Given the description of an element on the screen output the (x, y) to click on. 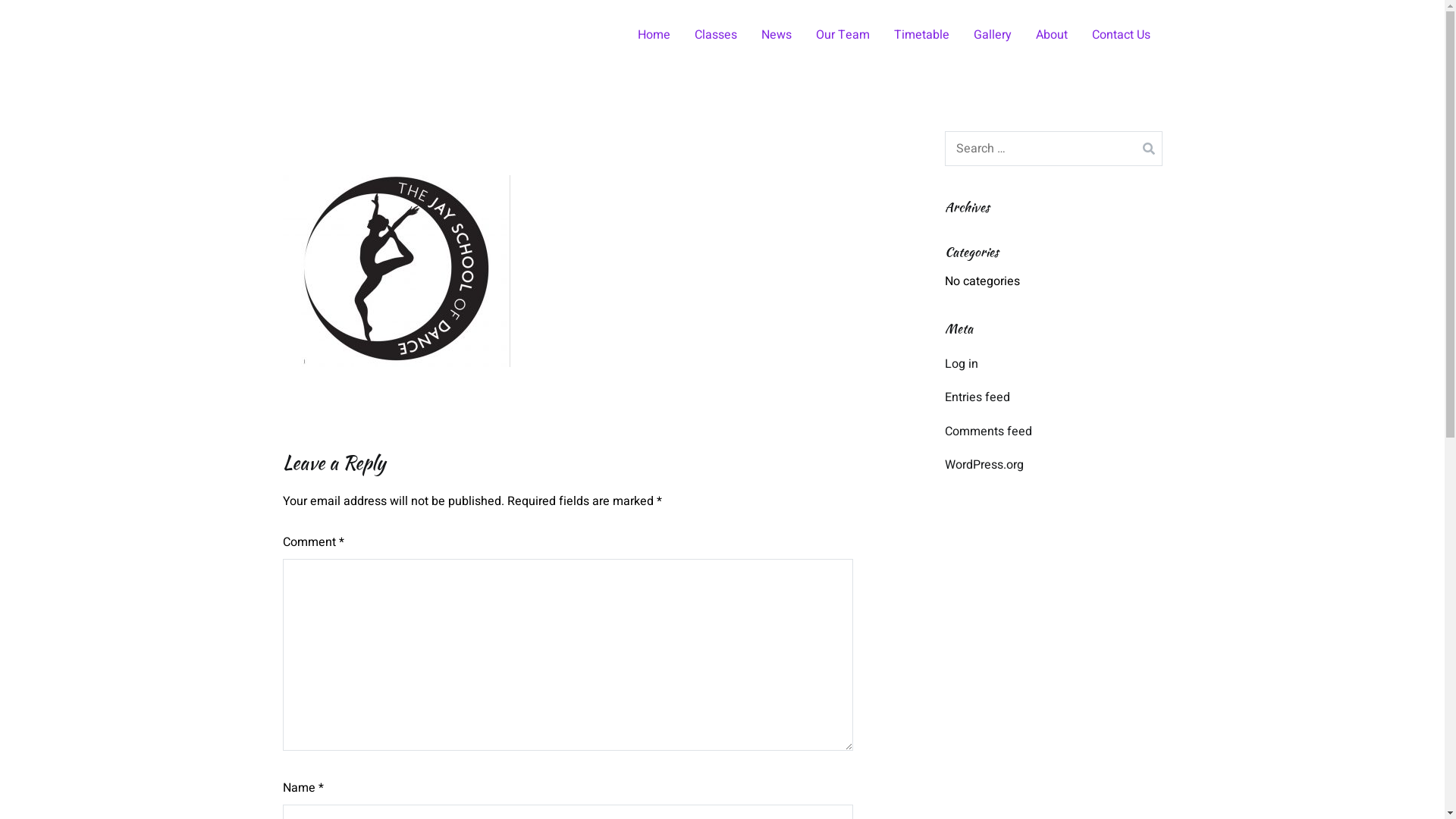
Entries feed Element type: text (977, 397)
Home Element type: text (653, 35)
WordPress.org Element type: text (983, 464)
Log in Element type: text (961, 364)
About Element type: text (1051, 35)
Contact Us Element type: text (1121, 35)
Search Element type: text (29, 16)
Gallery Element type: text (992, 35)
Our Team Element type: text (842, 35)
Classes Element type: text (715, 35)
The Jay School Of Dance Element type: text (363, 45)
Timetable Element type: text (920, 35)
Comments feed Element type: text (988, 430)
News Element type: text (776, 35)
